Given the description of an element on the screen output the (x, y) to click on. 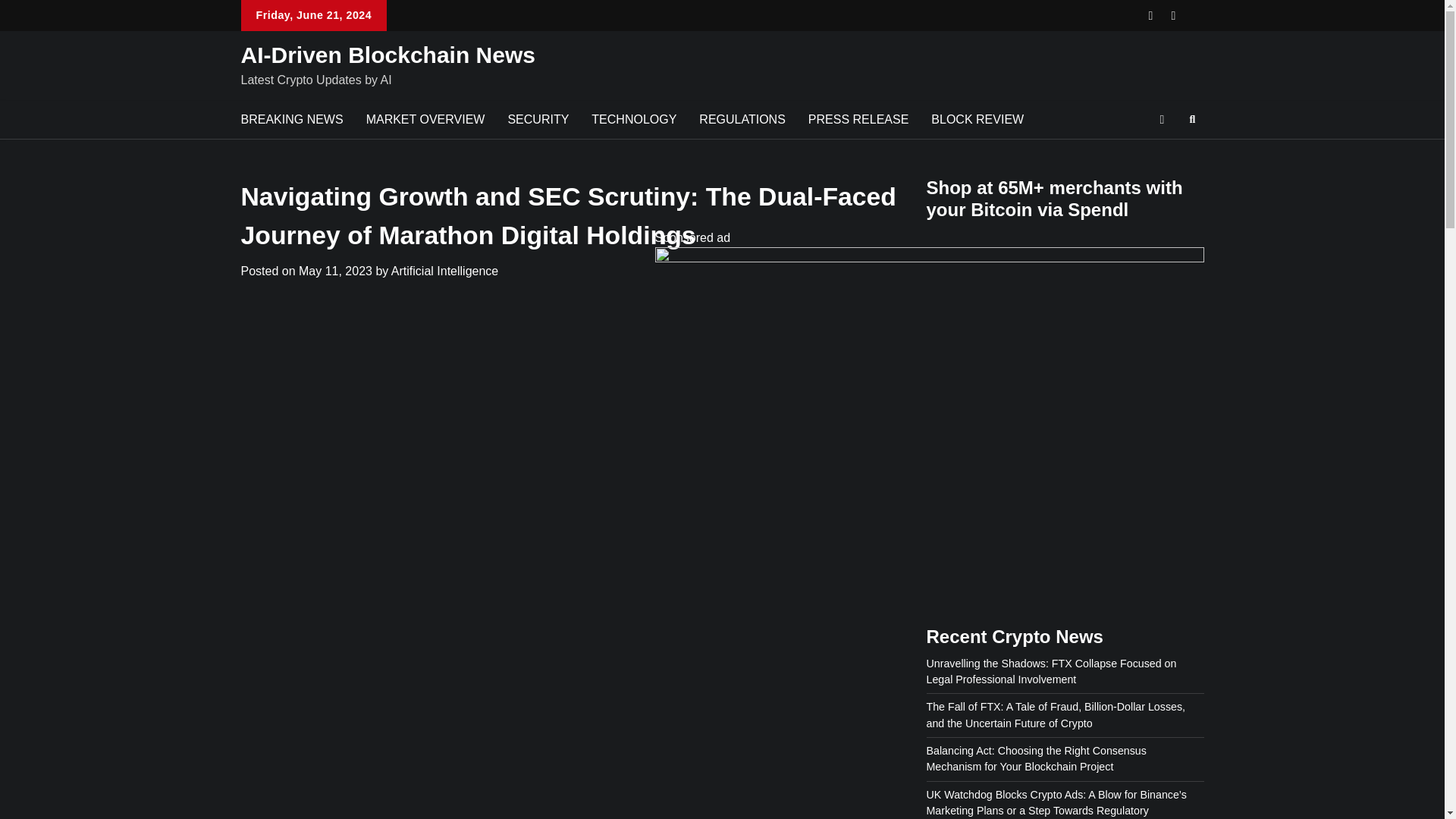
SECURITY (537, 119)
Search (1192, 119)
MARKET OVERVIEW (425, 119)
PRESS RELEASE (858, 119)
BLOCK REVIEW (977, 119)
Discord (1196, 15)
View Random Post (1162, 119)
TECHNOLOGY (633, 119)
Search (1164, 154)
